Given the description of an element on the screen output the (x, y) to click on. 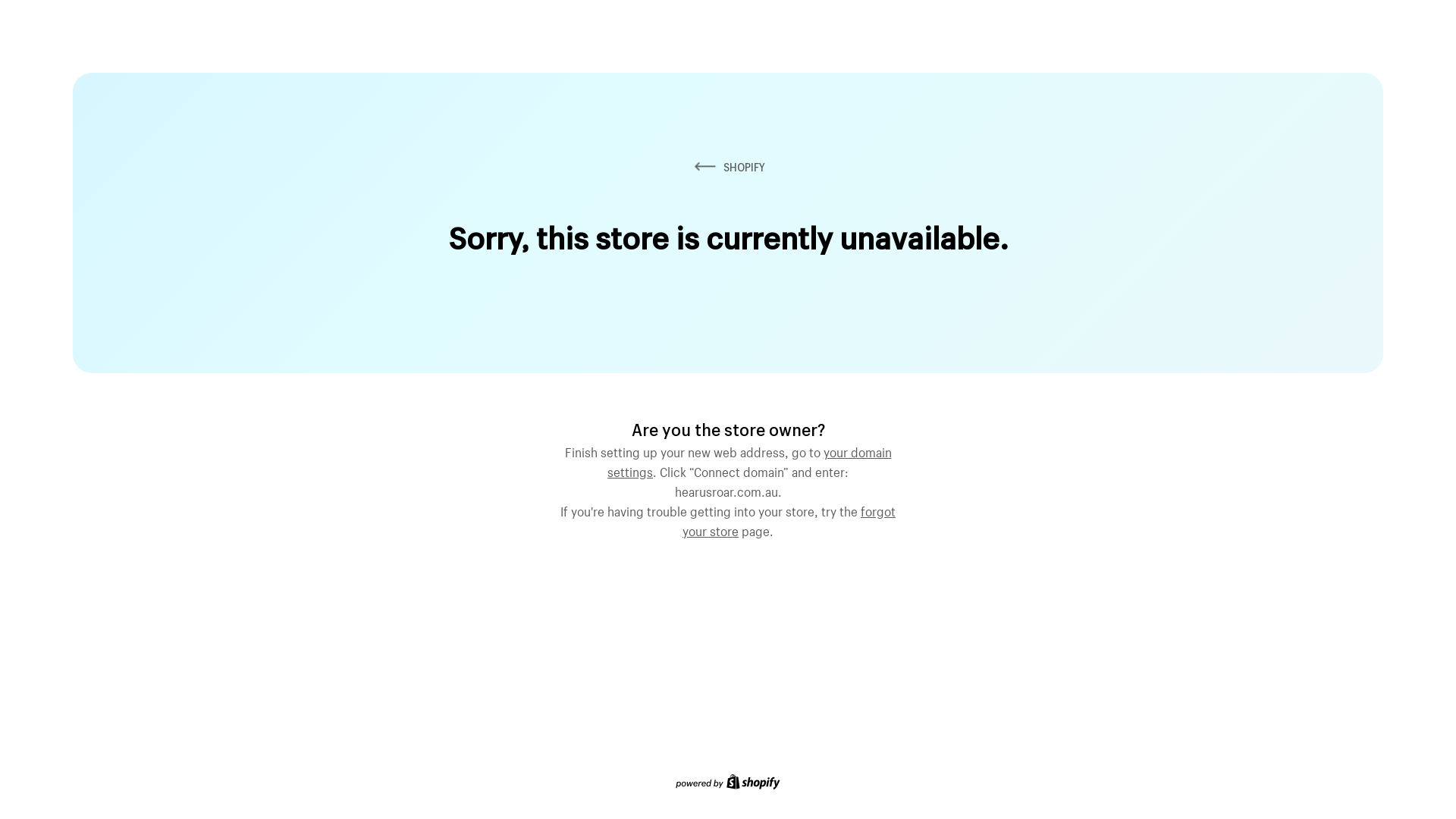
SHOPIFY Element type: text (727, 167)
your domain settings Element type: text (749, 460)
forgot your store Element type: text (788, 519)
